Given the description of an element on the screen output the (x, y) to click on. 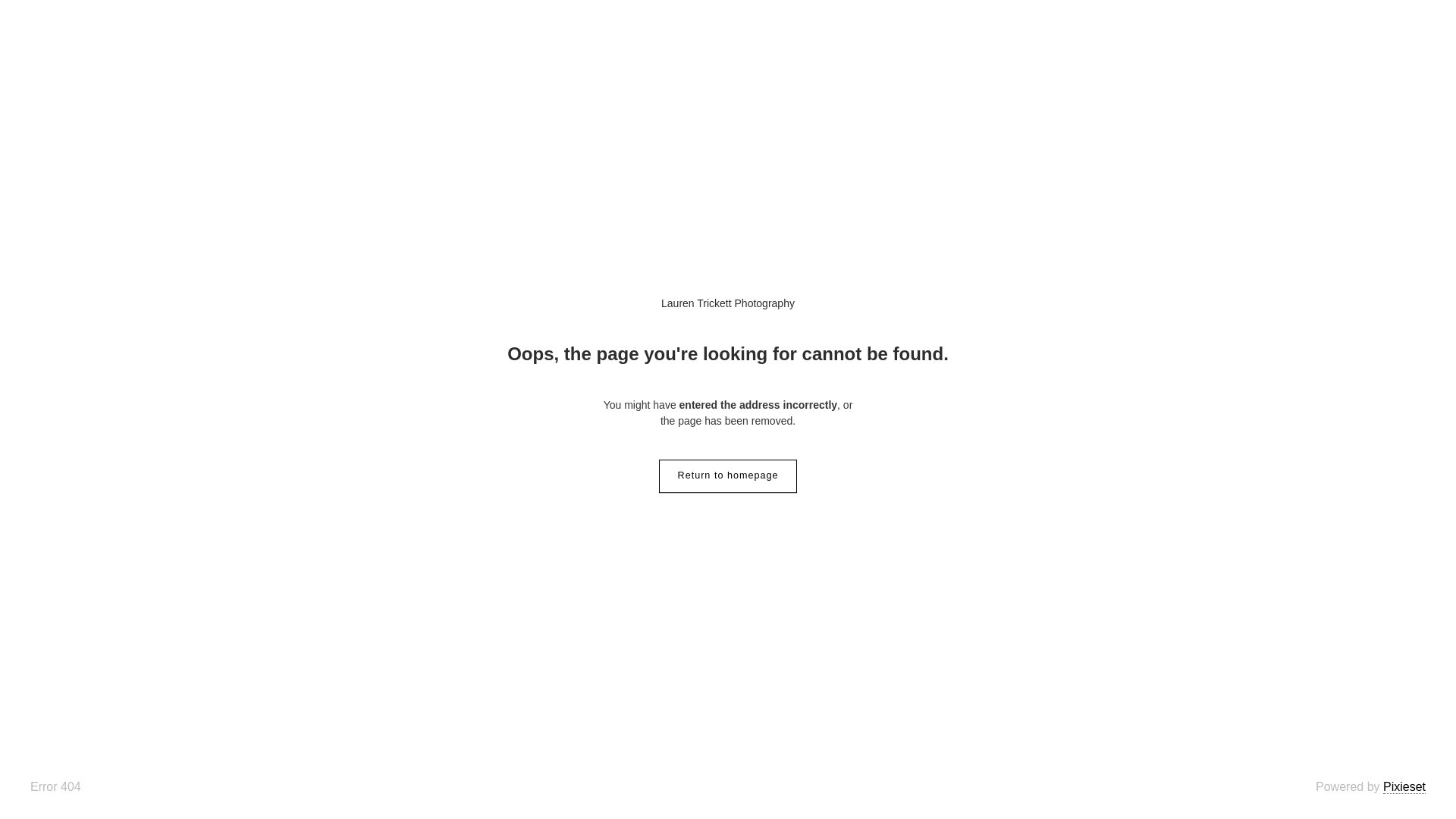
Pixieset Element type: text (1404, 786)
Return to homepage Element type: text (727, 475)
